Given the description of an element on the screen output the (x, y) to click on. 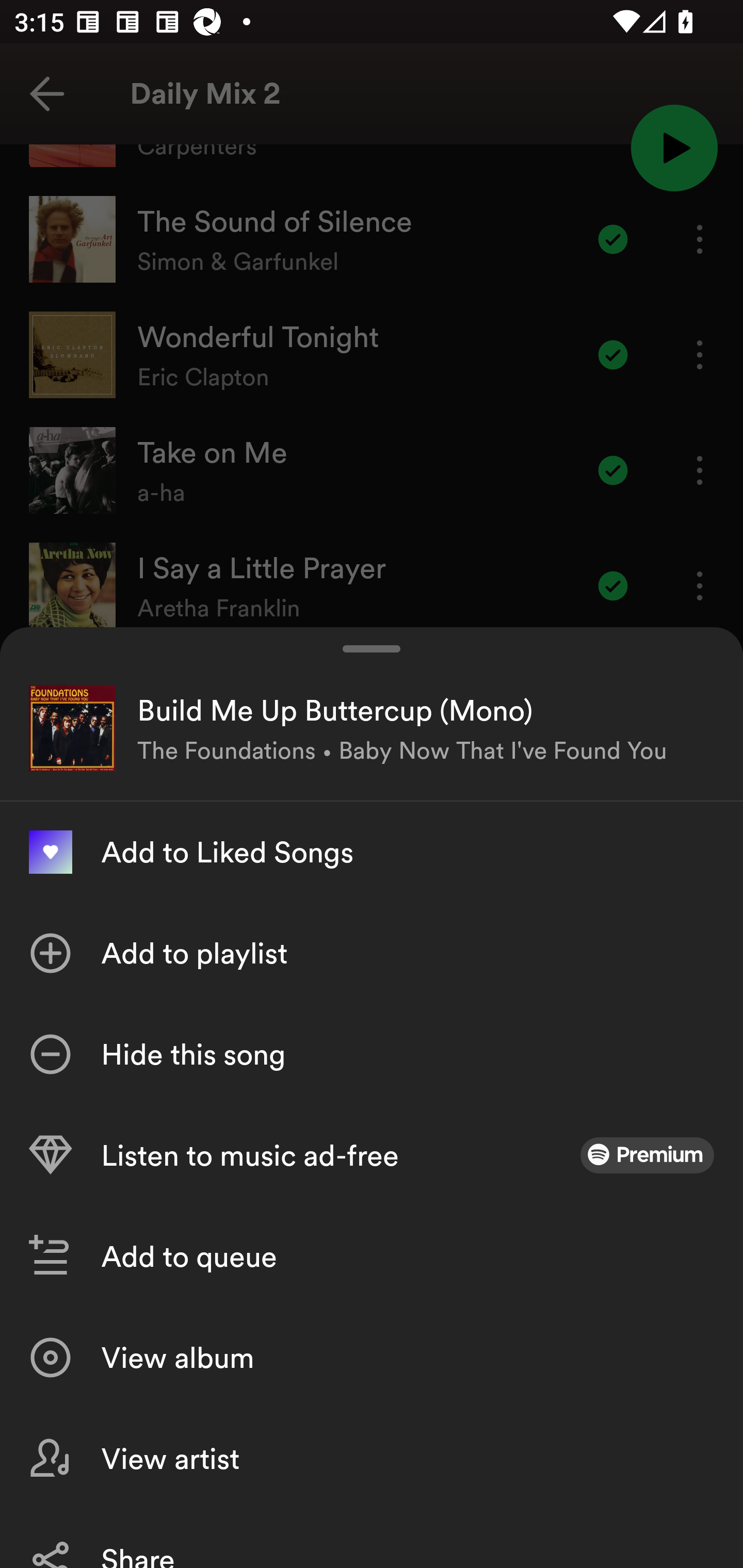
Add to Liked Songs (371, 852)
Add to playlist (371, 953)
Hide this song (371, 1054)
Listen to music ad-free (371, 1155)
Add to queue (371, 1256)
View album (371, 1357)
View artist (371, 1458)
Share (371, 1538)
